Given the description of an element on the screen output the (x, y) to click on. 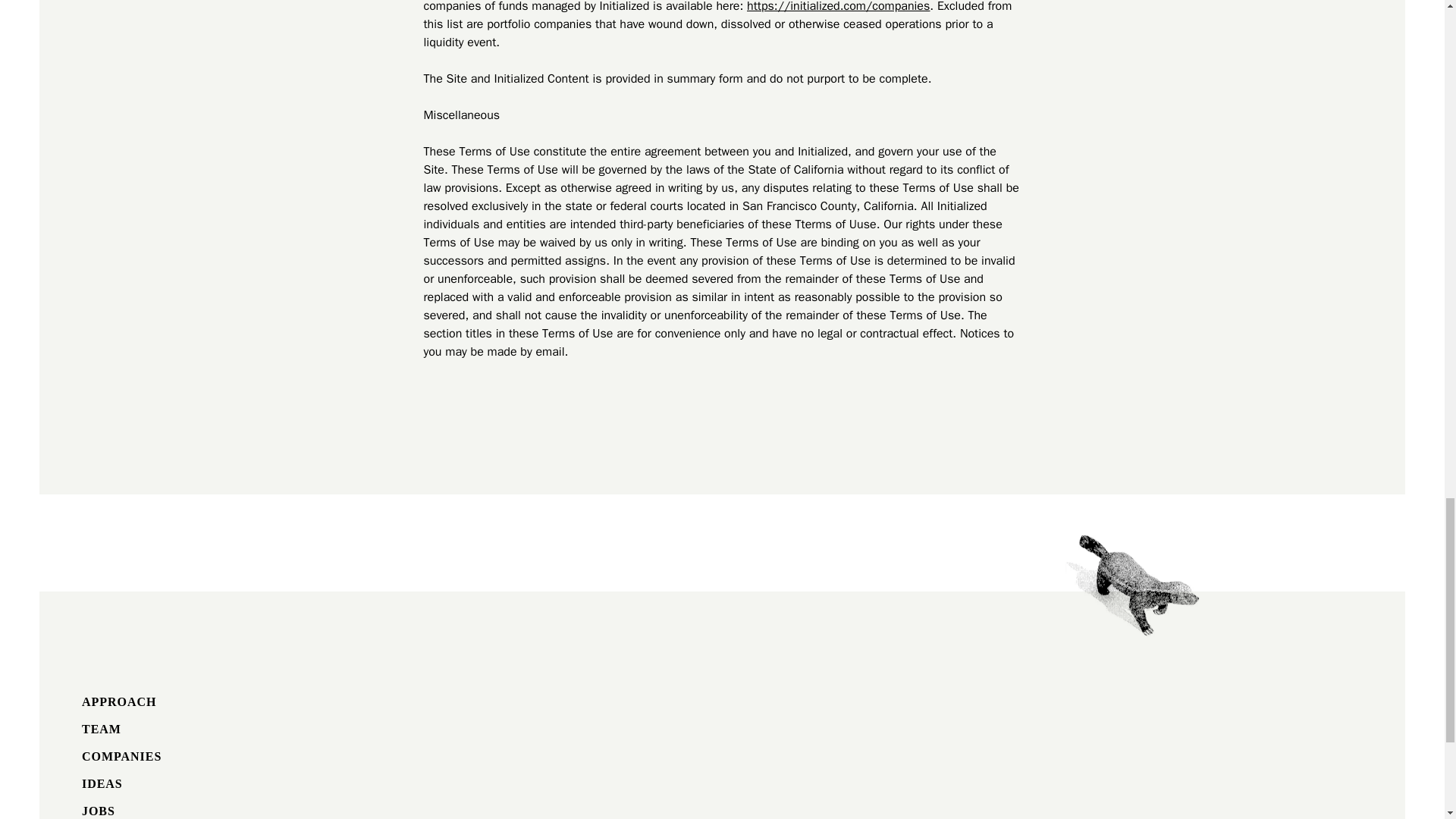
TEAM (100, 728)
COMPANIES (121, 756)
IDEAS (101, 783)
APPROACH (118, 701)
JOBS (98, 810)
